Given the description of an element on the screen output the (x, y) to click on. 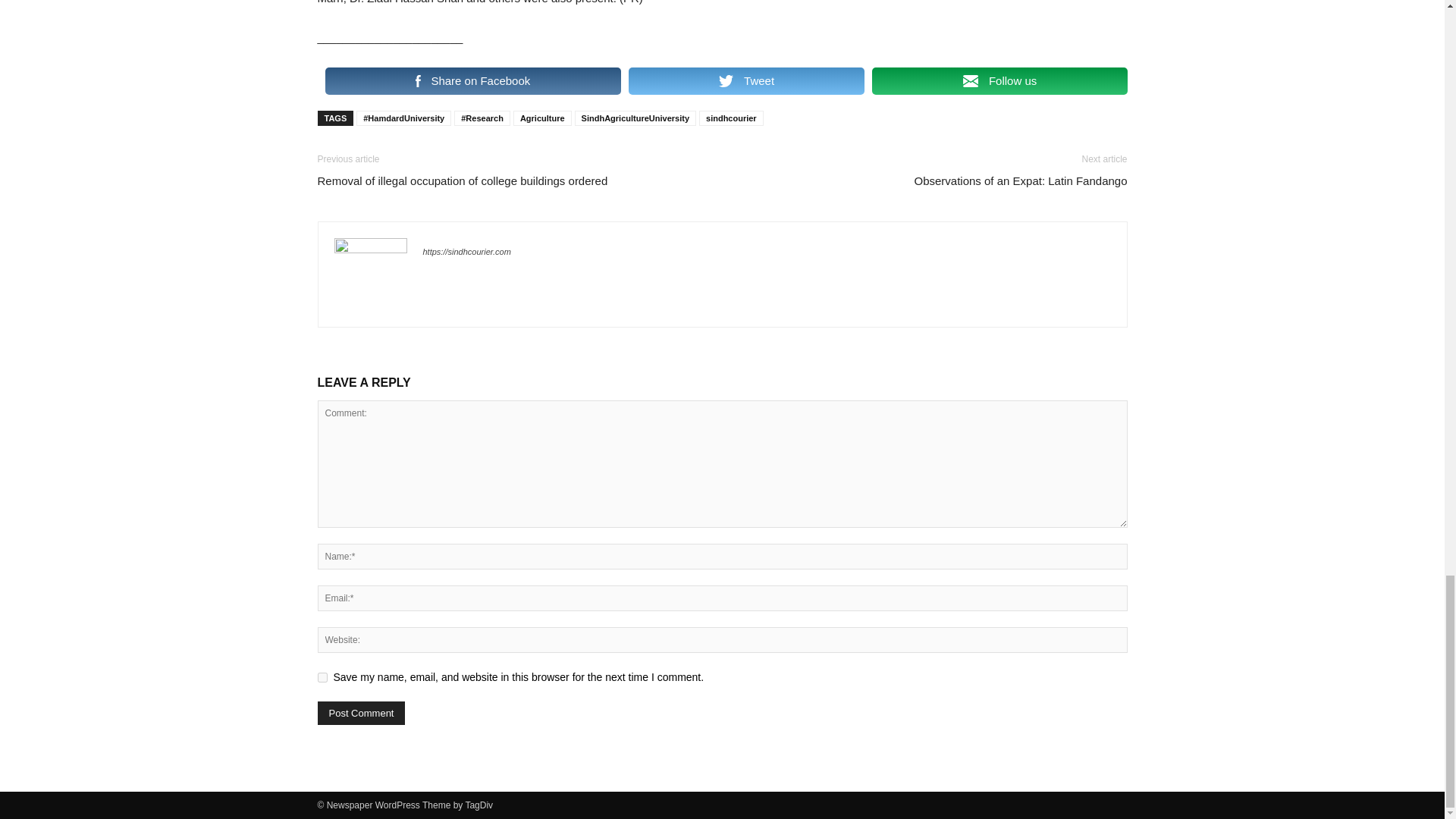
Tweet (746, 81)
Post Comment (360, 712)
yes (321, 677)
Follow us (999, 81)
Share on Facebook (472, 81)
